Given the description of an element on the screen output the (x, y) to click on. 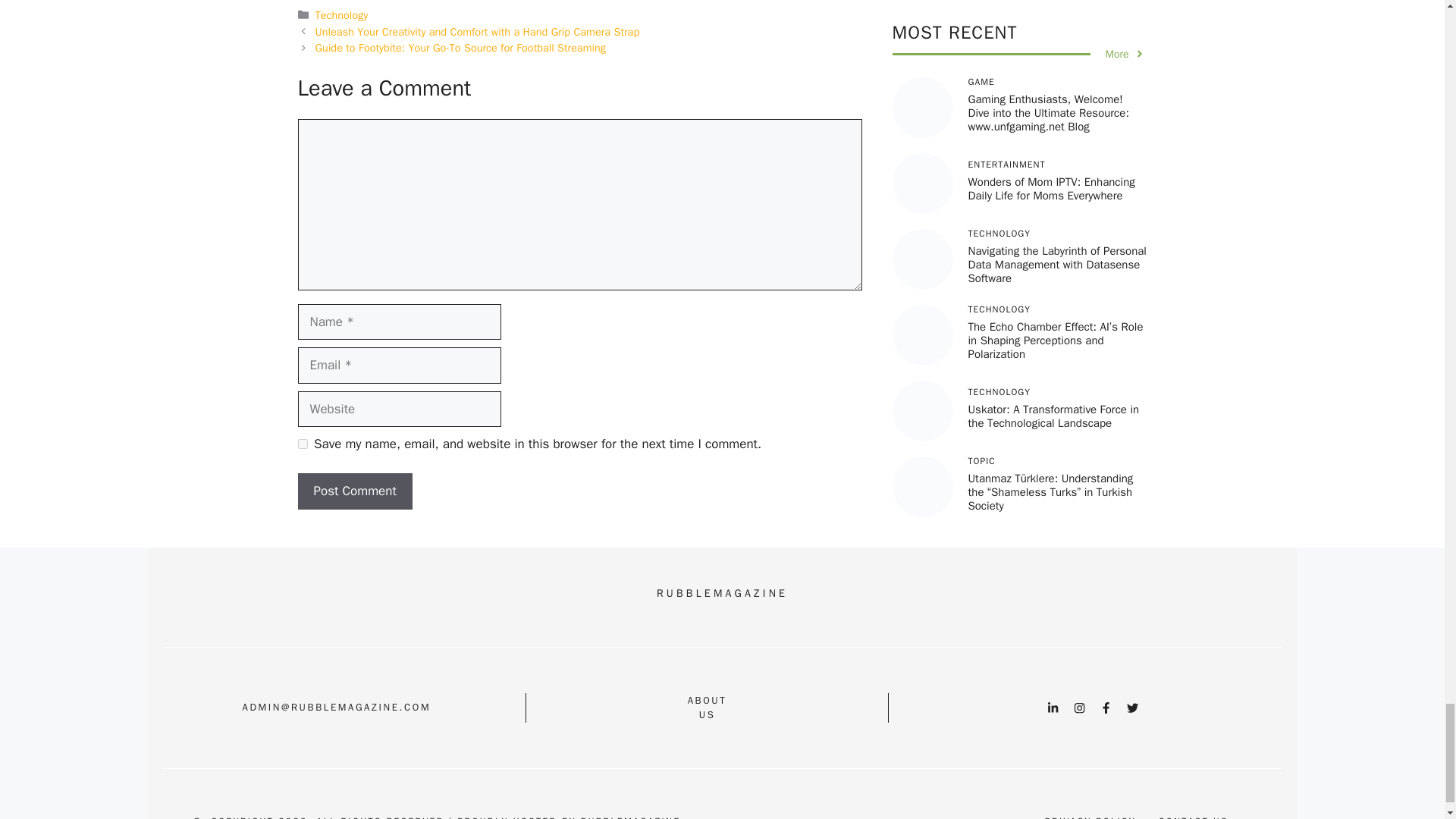
Post Comment (706, 707)
Guide to Footybite: Your Go-To Source for Football Streaming (354, 491)
Technology (460, 47)
yes (341, 15)
Post Comment (302, 443)
